Given the description of an element on the screen output the (x, y) to click on. 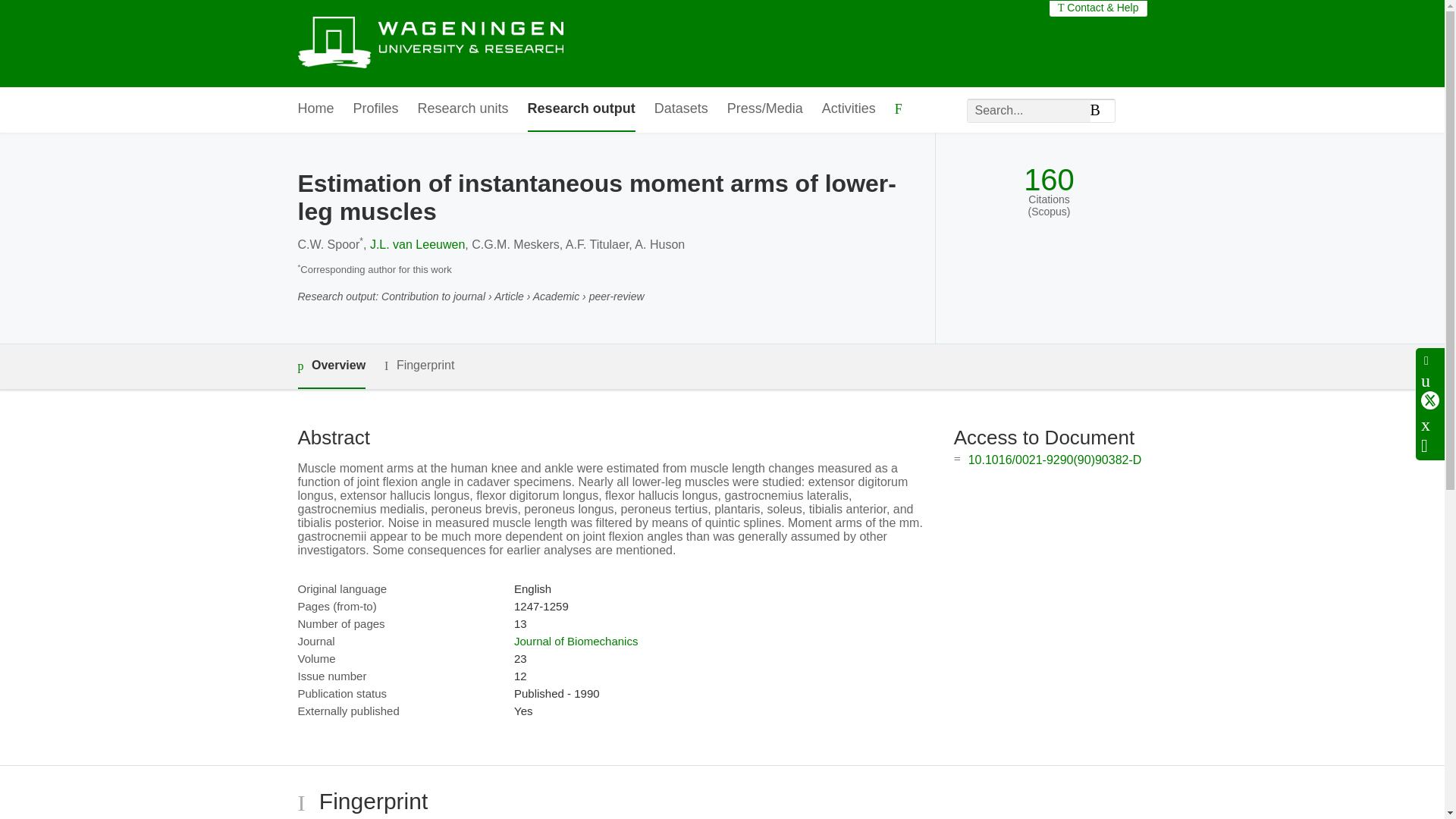
Projects (341, 153)
Journal of Biomechanics (575, 684)
Fingerprint (419, 409)
Research output (580, 108)
Profiles (375, 108)
J.L. van Leeuwen (416, 287)
Research units (462, 108)
Activities (849, 108)
Datasets (680, 108)
160 (1048, 223)
Overview (331, 410)
